Given the description of an element on the screen output the (x, y) to click on. 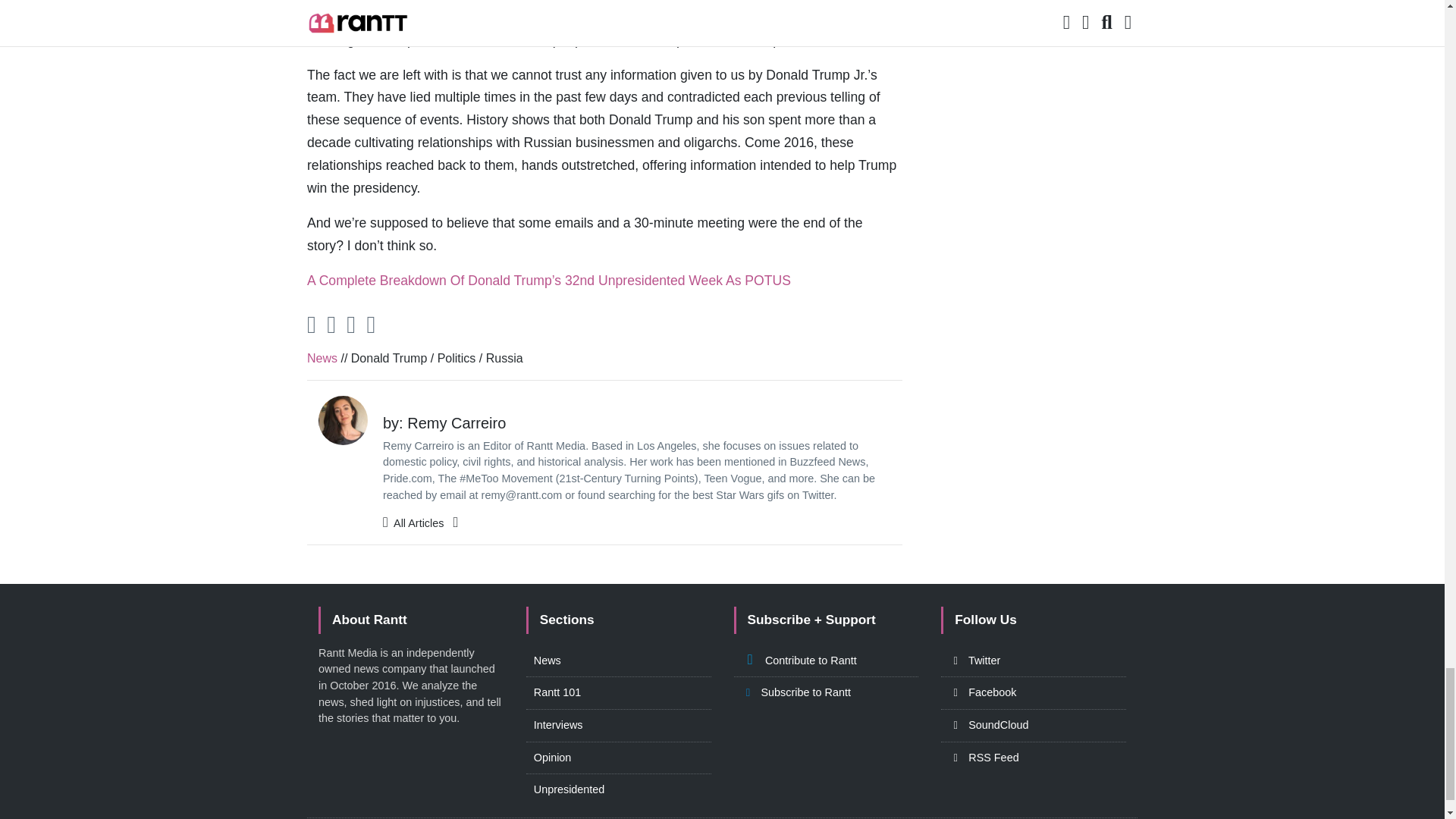
Donald Trump (389, 358)
in a series (621, 1)
News (322, 358)
reported (858, 17)
